Given the description of an element on the screen output the (x, y) to click on. 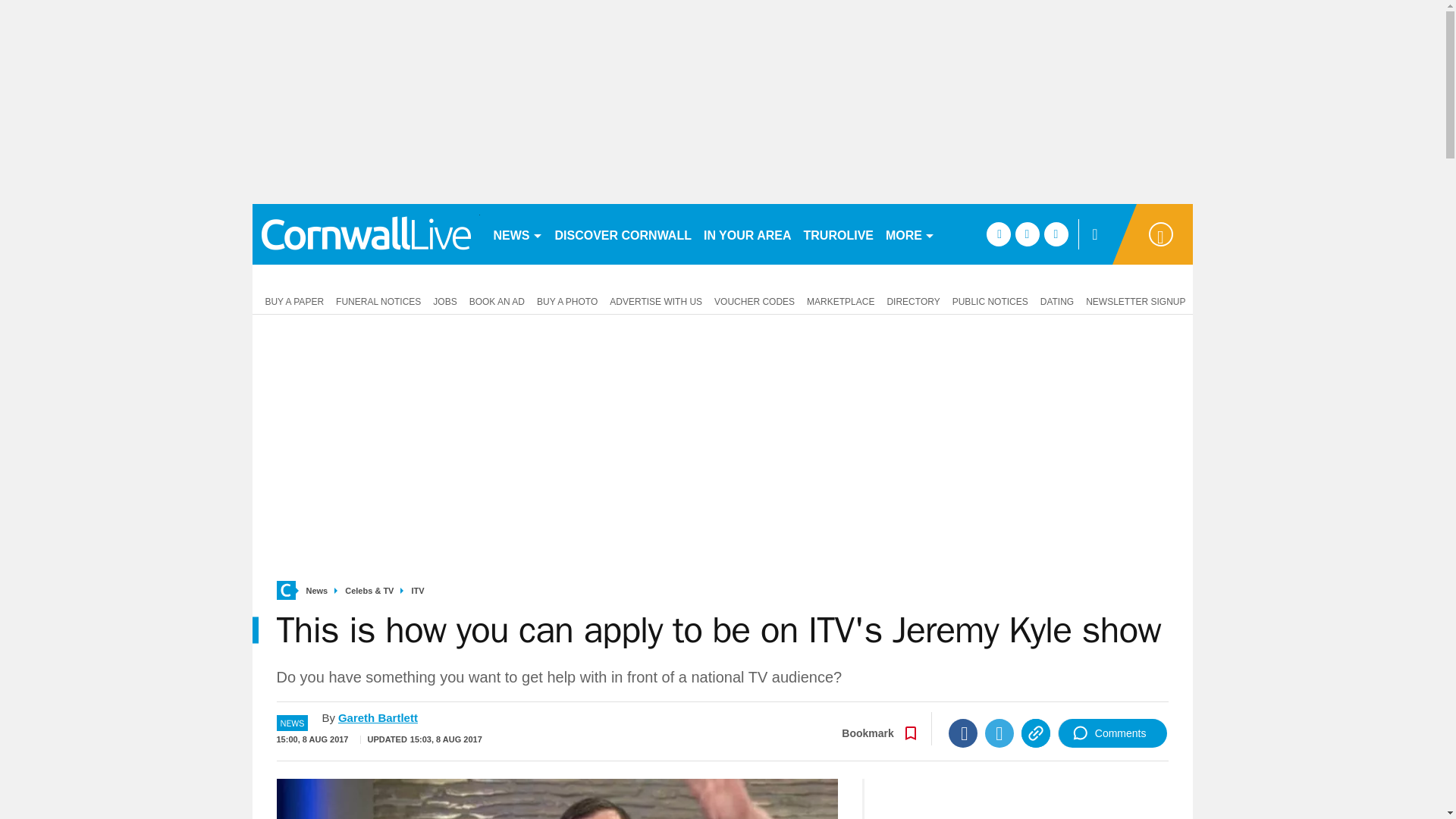
TRUROLIVE (838, 233)
instagram (1055, 233)
MORE (909, 233)
IN YOUR AREA (747, 233)
NEWS (517, 233)
DISCOVER CORNWALL (622, 233)
cornwalllive (365, 233)
Comments (1112, 733)
twitter (1026, 233)
facebook (997, 233)
